Given the description of an element on the screen output the (x, y) to click on. 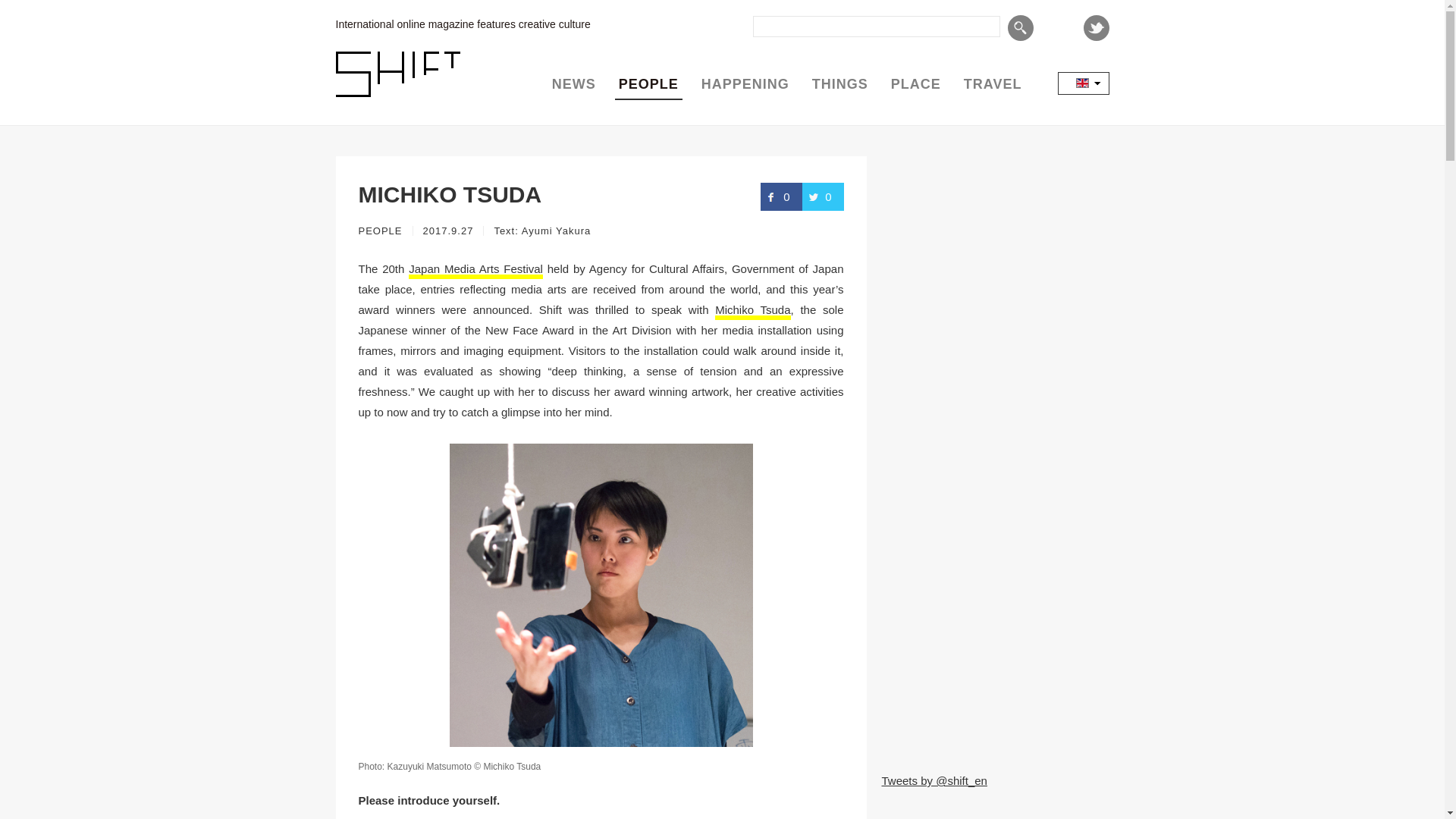
NEWS (573, 84)
3rd party ad content (994, 455)
0 (781, 196)
PEOPLE (379, 230)
Ayumi Yakura (556, 230)
3rd party ad content (994, 250)
HAPPENING (745, 84)
Japan Media Arts Festival (476, 269)
PEOPLE (648, 84)
0 (823, 196)
